Given the description of an element on the screen output the (x, y) to click on. 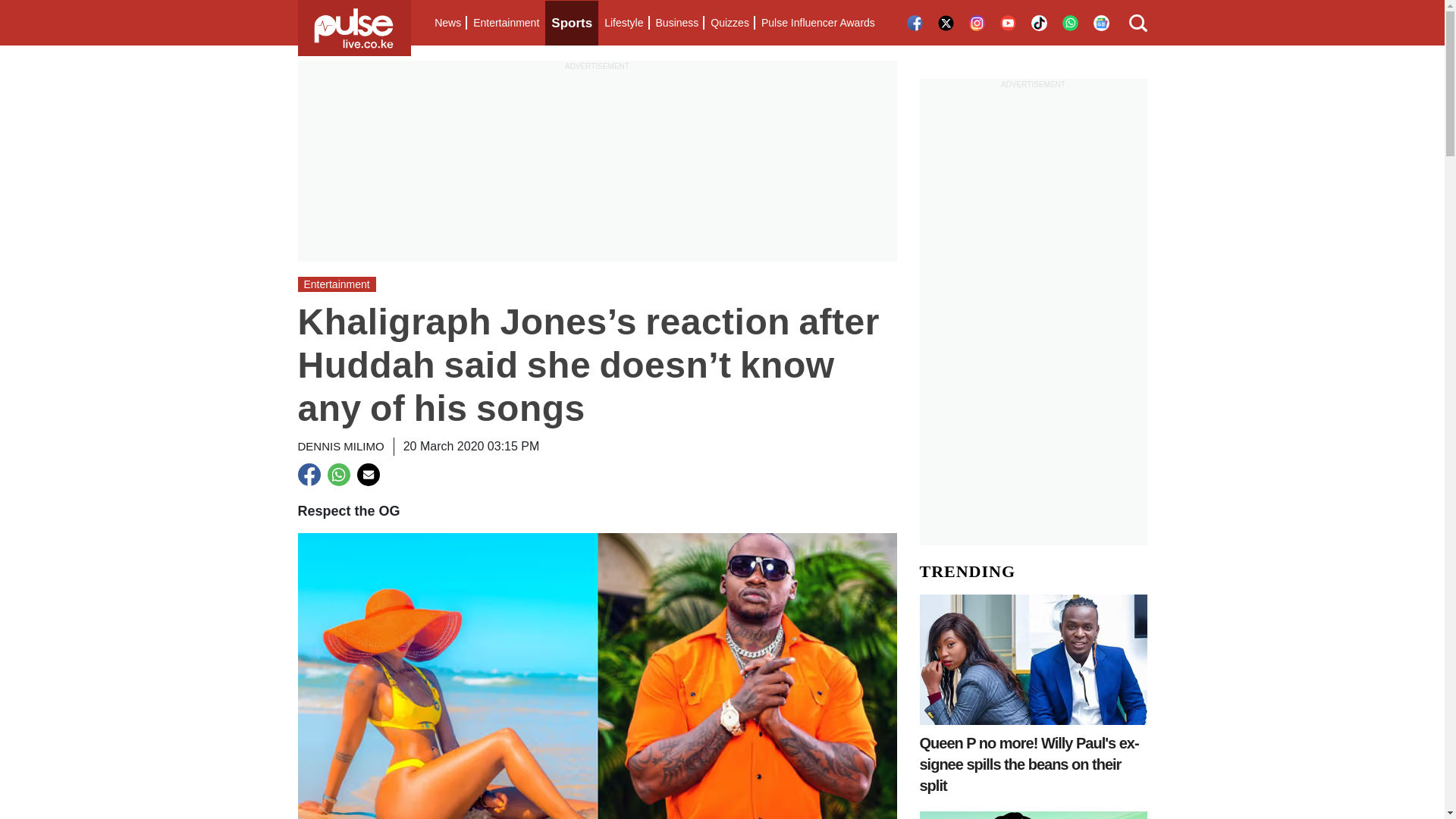
Pulse Influencer Awards (817, 22)
Quizzes (729, 22)
Lifestyle (623, 22)
Business (676, 22)
Entertainment (505, 22)
Sports (571, 22)
